Given the description of an element on the screen output the (x, y) to click on. 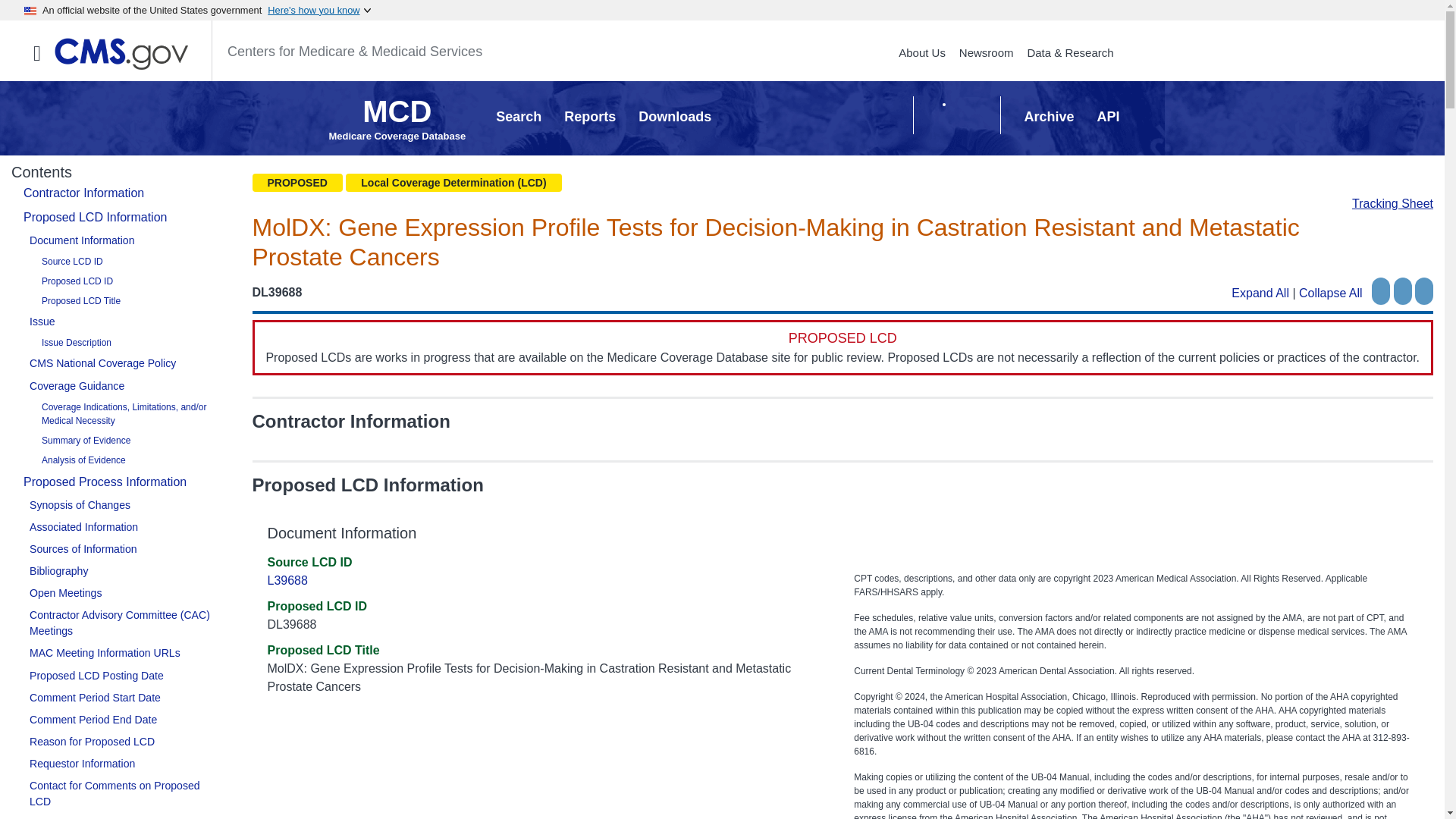
Newsroom (986, 51)
Search (518, 116)
Here's how you know (397, 126)
Skip to main content (319, 9)
Reports (921, 51)
